Given the description of an element on the screen output the (x, y) to click on. 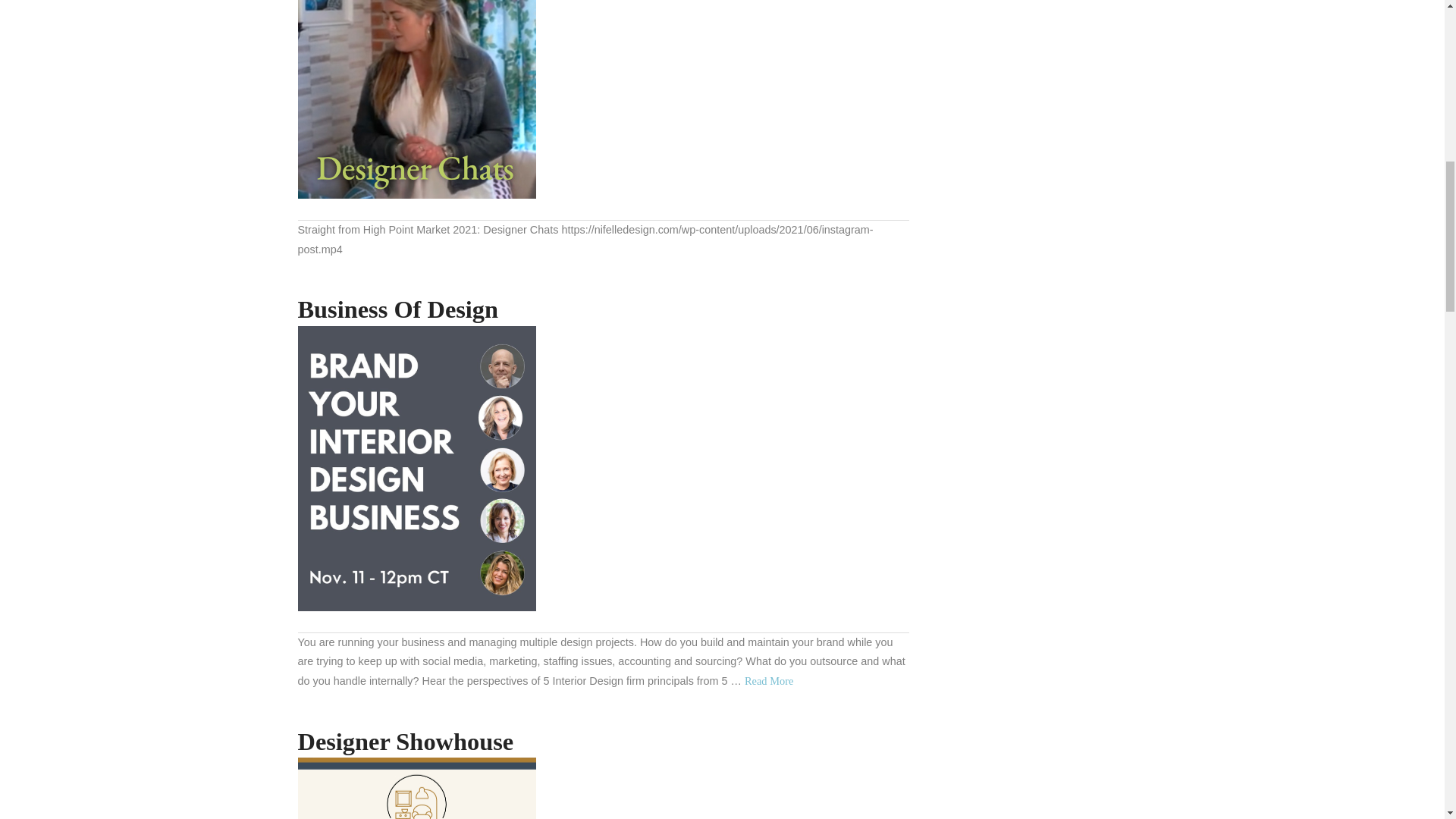
Designer Showhouse (405, 741)
Business Of Design (768, 680)
Read More (768, 680)
High Point Market (416, 99)
Business Of Design (397, 308)
Business Of Design (416, 467)
Designer Showhouse (416, 788)
